Given the description of an element on the screen output the (x, y) to click on. 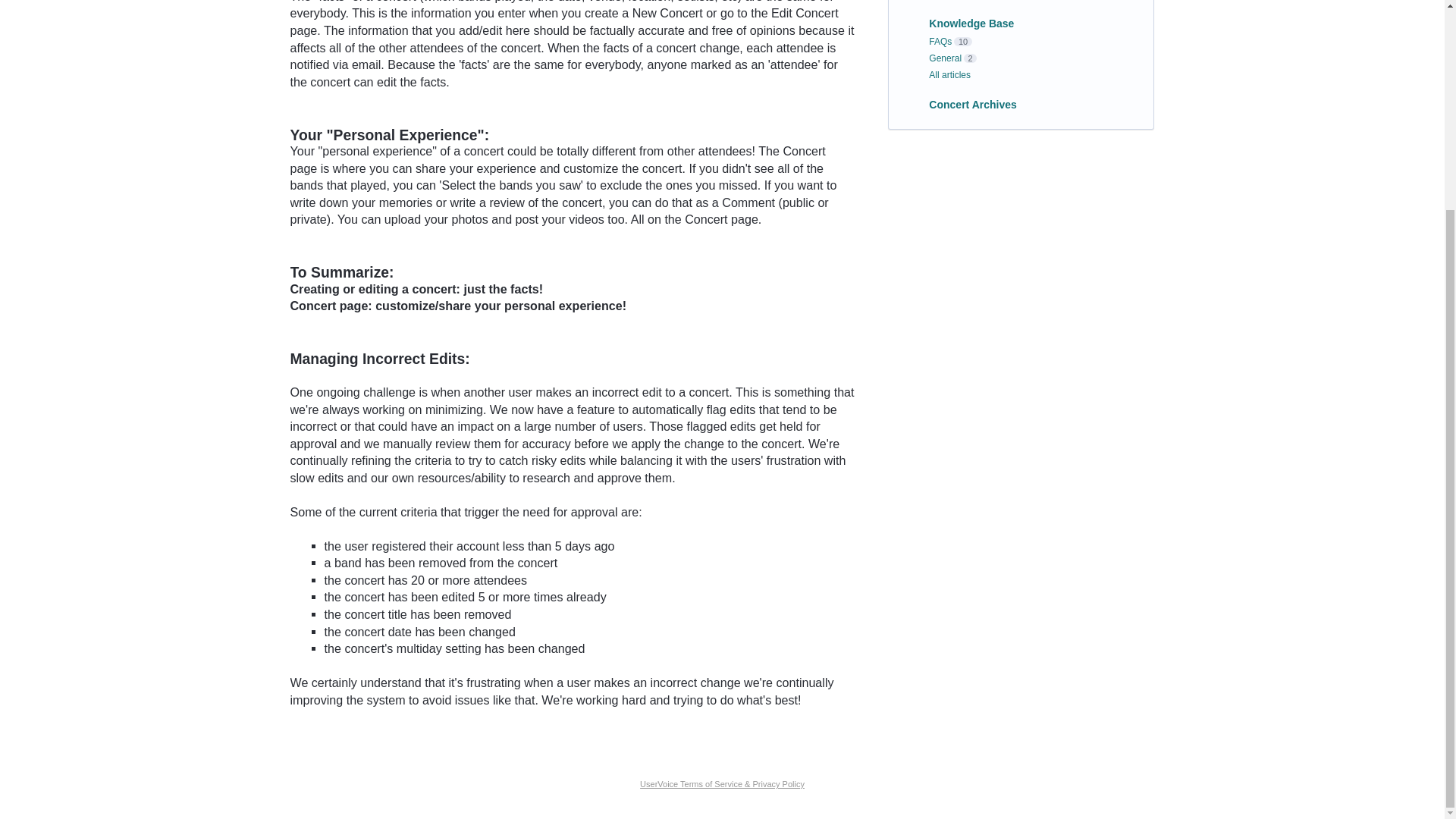
General (944, 58)
FAQs (940, 41)
View all articles in FAQs (940, 41)
Concert Archives (972, 104)
All articles (949, 74)
View all articles in General (944, 58)
Knowledge Base (970, 23)
